Given the description of an element on the screen output the (x, y) to click on. 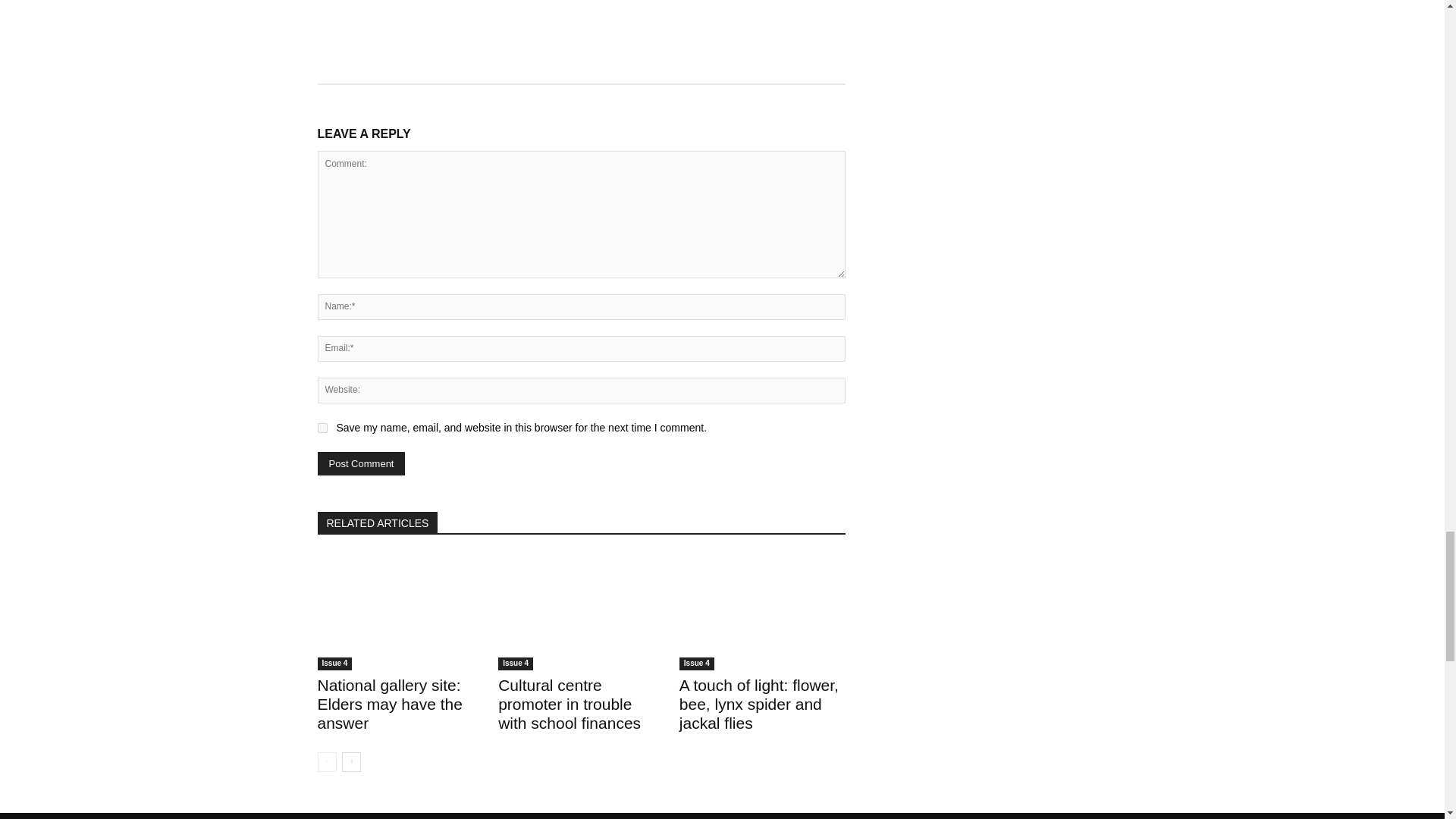
yes (321, 428)
Post Comment (360, 463)
